Given the description of an element on the screen output the (x, y) to click on. 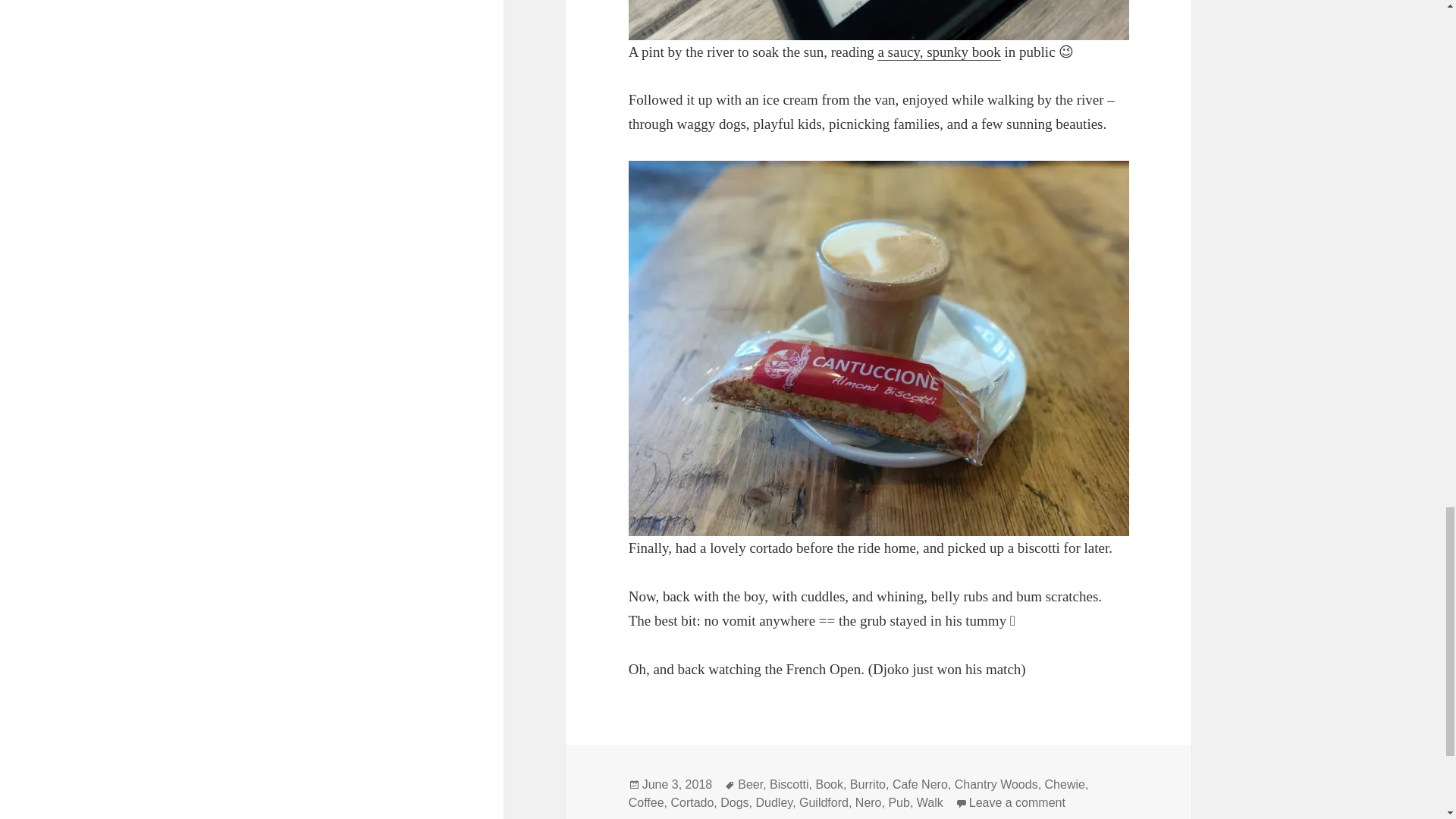
Cortado (691, 802)
Cafe Nero (919, 784)
Chewie (1064, 784)
Biscotti (789, 784)
June 3, 2018 (677, 784)
Burrito (867, 784)
Beer (750, 784)
Book (829, 784)
a saucy, spunky book (938, 52)
Chantry Woods (996, 784)
Coffee (645, 802)
